Given the description of an element on the screen output the (x, y) to click on. 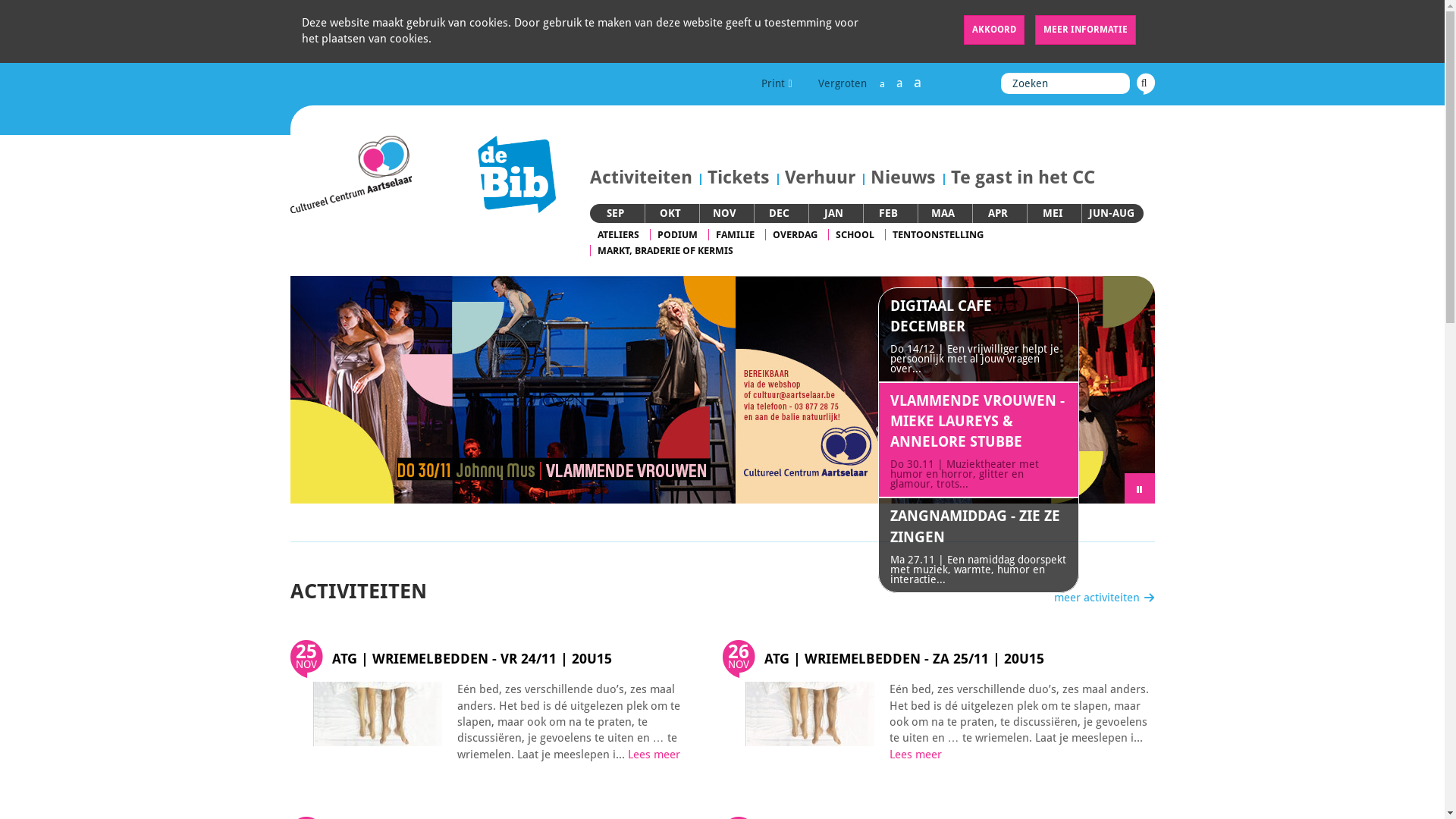
MARKT, BRADERIE OF KERMIS Element type: text (664, 250)
SEP Element type: text (615, 213)
Ga naar de startpagina Element type: hover (350, 174)
Nieuws Element type: text (902, 177)
ATG | WRIEMELBEDDEN - VR 24/11 | 20U15 Element type: text (471, 658)
FEB Element type: text (887, 213)
OKT Element type: text (669, 213)
ATG | WRIEMELBEDDEN - ZA 25/11 | 20U15 Element type: text (904, 658)
DEC Element type: text (778, 213)
TENTOONSTELLING Element type: text (937, 234)
Ga naar de bibliotheek Element type: hover (494, 174)
JUN-AUG Element type: text (1111, 213)
SCHOOL Element type: text (854, 234)
a Element type: text (899, 83)
OVERDAG Element type: text (794, 234)
MAA Element type: text (942, 213)
Te gast in het CC Element type: text (1019, 177)
AKKOORD Element type: text (993, 29)
a Element type: text (880, 83)
CAROUSEL PAUZEREN Element type: text (1138, 488)
Tickets Element type: text (737, 177)
Verhuur Element type: text (819, 177)
APR Element type: text (997, 213)
ATELIERS Element type: text (617, 234)
MEI Element type: text (1051, 213)
MEER INFORMATIE Element type: text (1084, 29)
meer activiteiten Element type: text (1104, 597)
Lees meer Element type: text (914, 754)
FAMILIE Element type: text (735, 234)
Lees meer Element type: text (653, 754)
NOV Element type: text (724, 213)
JAN Element type: text (833, 213)
PODIUM Element type: text (676, 234)
Activiteiten Element type: text (644, 177)
Print Element type: text (776, 83)
a Element type: text (917, 82)
